Given the description of an element on the screen output the (x, y) to click on. 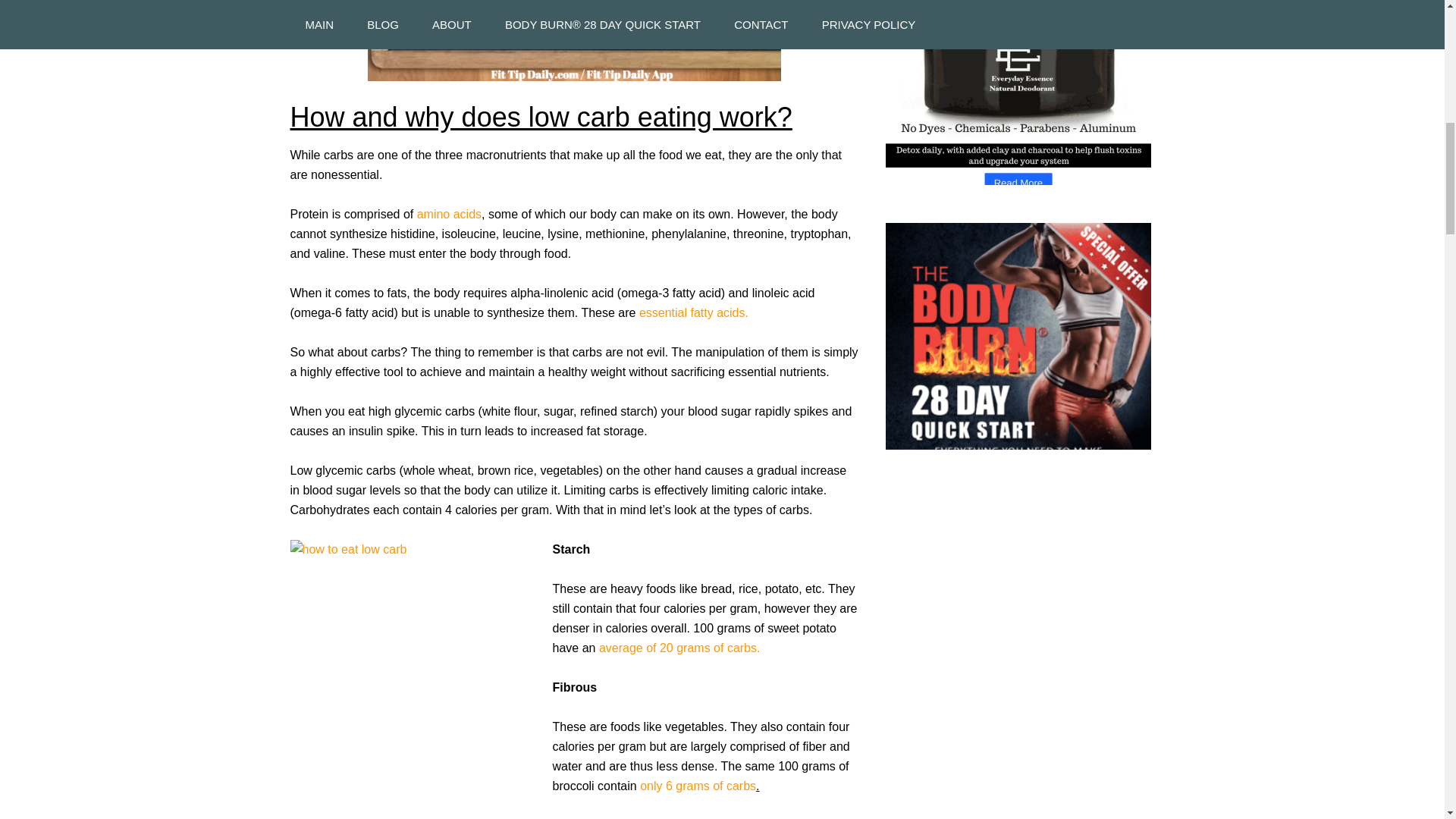
carbs. (743, 647)
grams of carbs (715, 785)
average of 20 grams of (660, 647)
amino acids (448, 214)
essential fatty acids. (693, 312)
only 6 (656, 785)
